Given the description of an element on the screen output the (x, y) to click on. 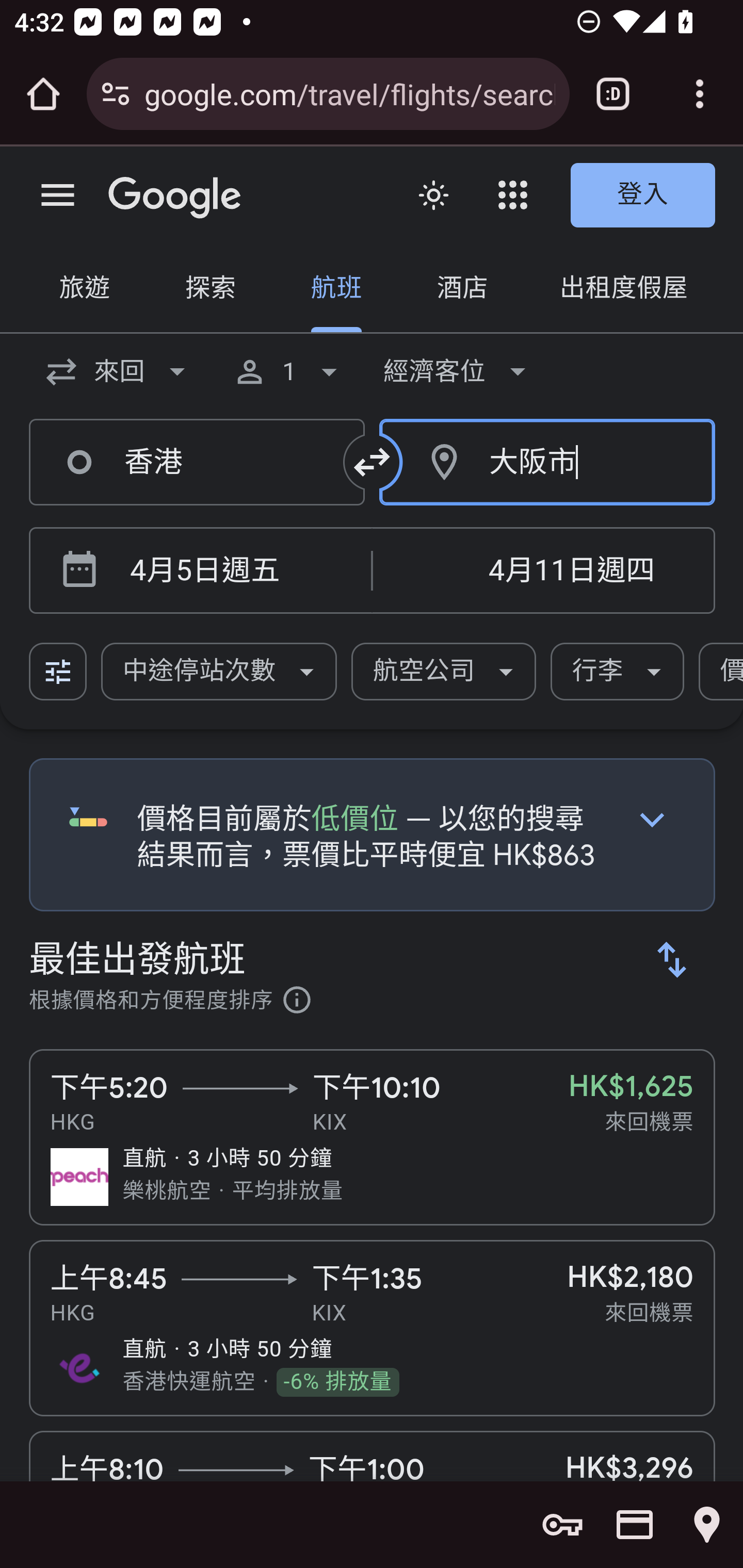
Open the home page (43, 93)
Connection is secure (115, 93)
Switch or close tabs (612, 93)
Customize and control Google Chrome (699, 93)
主選單 (58, 195)
Google Apps (513, 195)
登入 (643, 195)
變更外觀 (433, 195)
Google (175, 198)
旅遊  (84, 289)
探索  (209, 289)
航班  (336, 289)
酒店  (462, 289)
出租度假屋  (623, 289)
1 位乘客，變更乘客人數。 (289, 371)
香港 (197, 462)
大阪市 (547, 462)
將出發地同埋目的地對調 (372, 462)
出發 4月5日週五 (237, 571)
返回 4月11日週四 (543, 571)
所有篩選器 (58, 671)
中途停站次數, 未揀 (219, 671)
航空公司, 未揀 (443, 671)
行李, 未揀 (617, 671)
查看價格紀錄 (652, 818)
最佳航班, 變更排序順序。 (672, 959)
進一步瞭解 (296, 1002)
Show saved passwords and password options (562, 1524)
Show saved payment methods (634, 1524)
Show saved addresses (706, 1524)
